Given the description of an element on the screen output the (x, y) to click on. 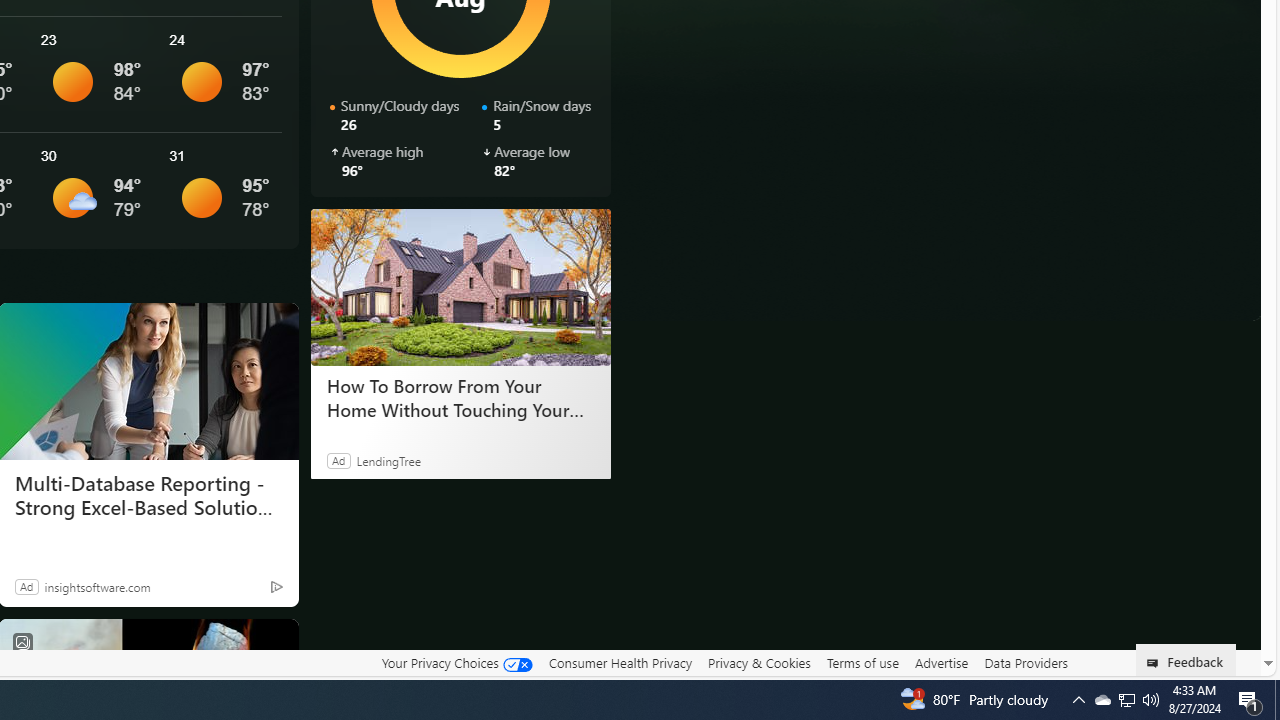
Privacy & Cookies (759, 662)
See More Details (221, 190)
LendingTree (388, 460)
Ad Choice (276, 586)
Consumer Health Privacy (619, 663)
Your Privacy Choices (456, 662)
insightsoftware.com (97, 586)
Data Providers (1025, 662)
Terms of use (861, 662)
